Given the description of an element on the screen output the (x, y) to click on. 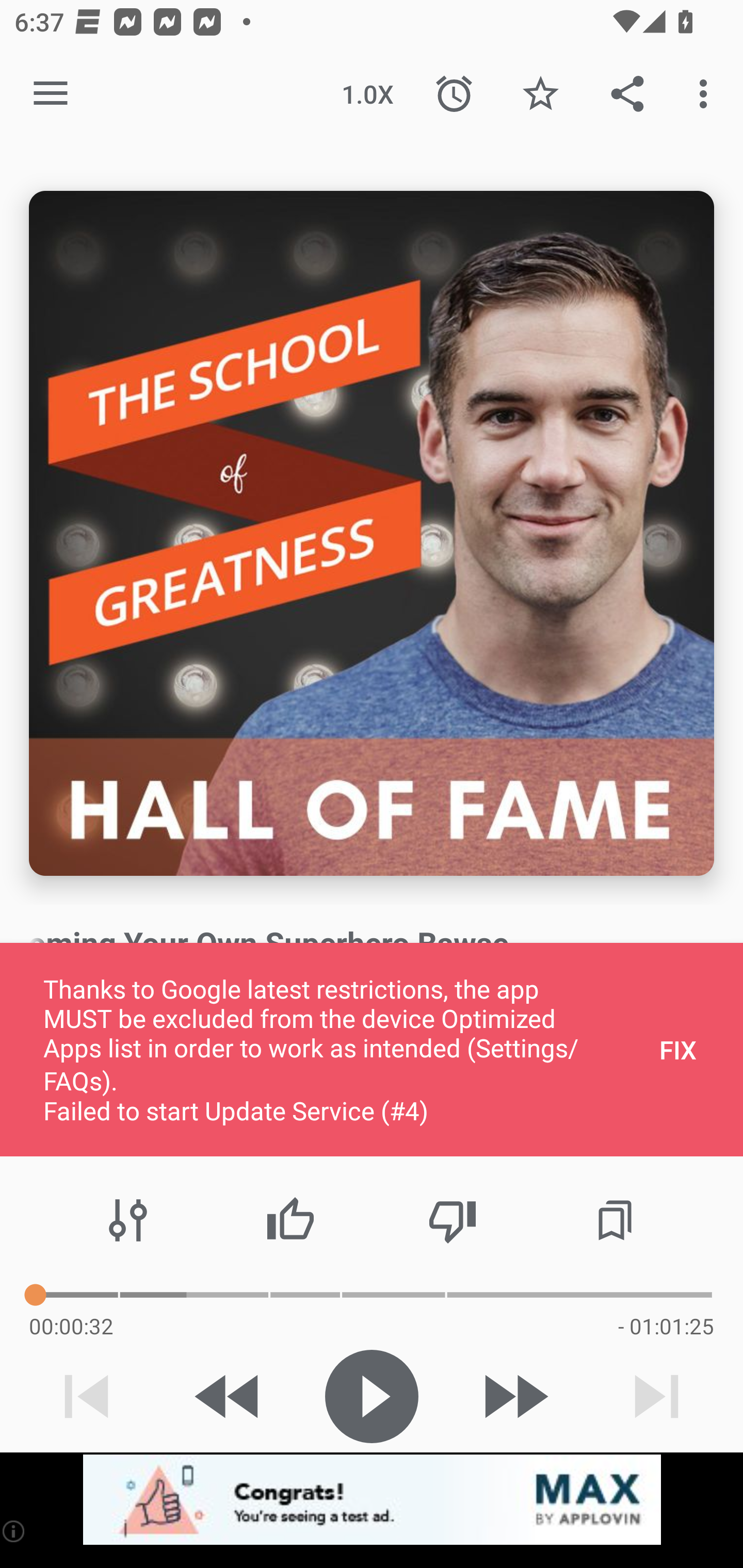
Open navigation sidebar (50, 93)
1.0X (366, 93)
Sleep Timer (453, 93)
Favorite (540, 93)
Share (626, 93)
More options (706, 93)
Episode description (371, 533)
FIX (677, 1049)
Audio effects (127, 1220)
Thumbs up (290, 1220)
Thumbs down (452, 1220)
Chapters / Bookmarks (614, 1220)
- 01:01:25 (666, 1325)
Previous track (86, 1395)
Skip 15s backward (228, 1395)
Play / Pause (371, 1395)
Skip 30s forward (513, 1395)
Next track (656, 1395)
app-monetization (371, 1500)
(i) (14, 1531)
